Given the description of an element on the screen output the (x, y) to click on. 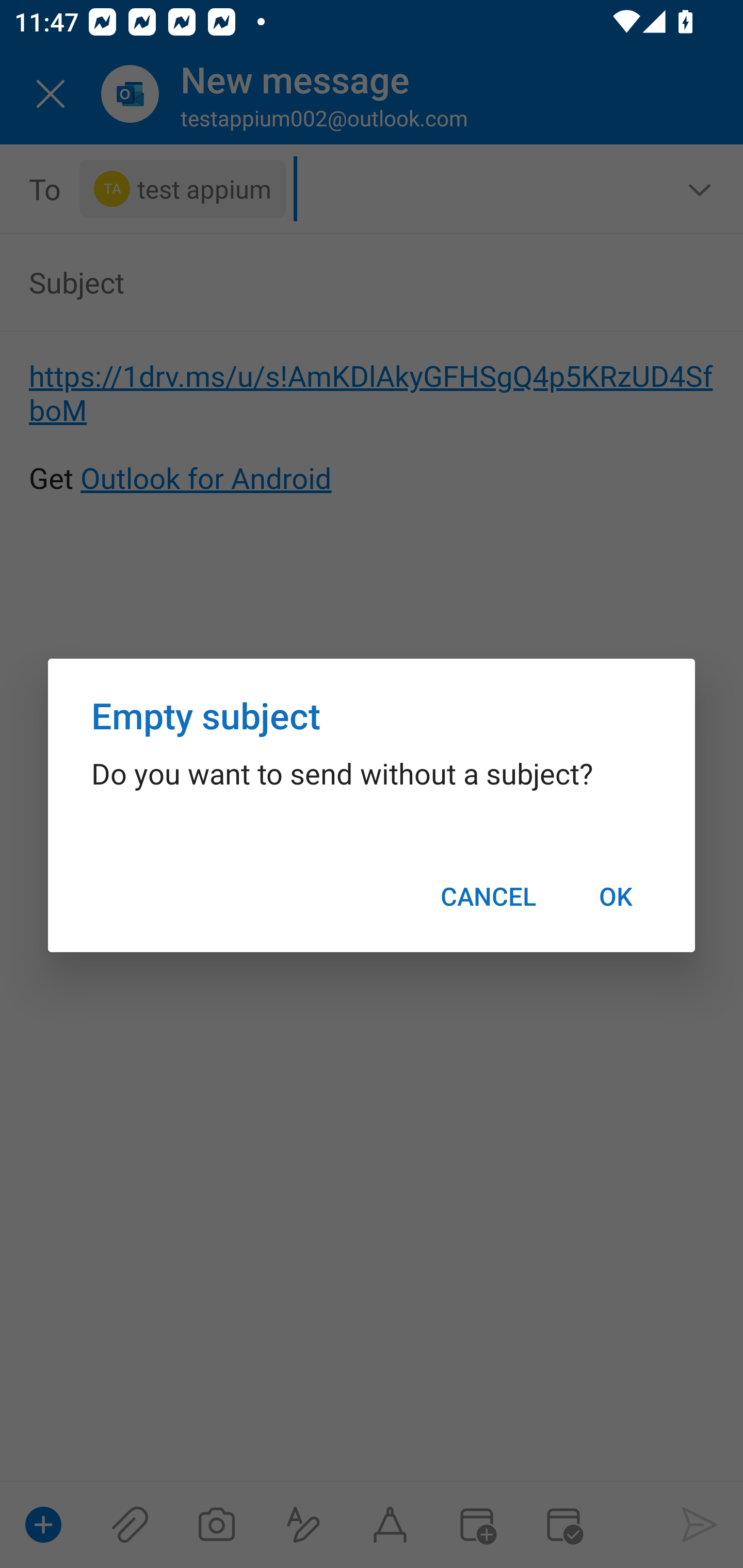
CANCEL (488, 895)
OK (615, 895)
